Given the description of an element on the screen output the (x, y) to click on. 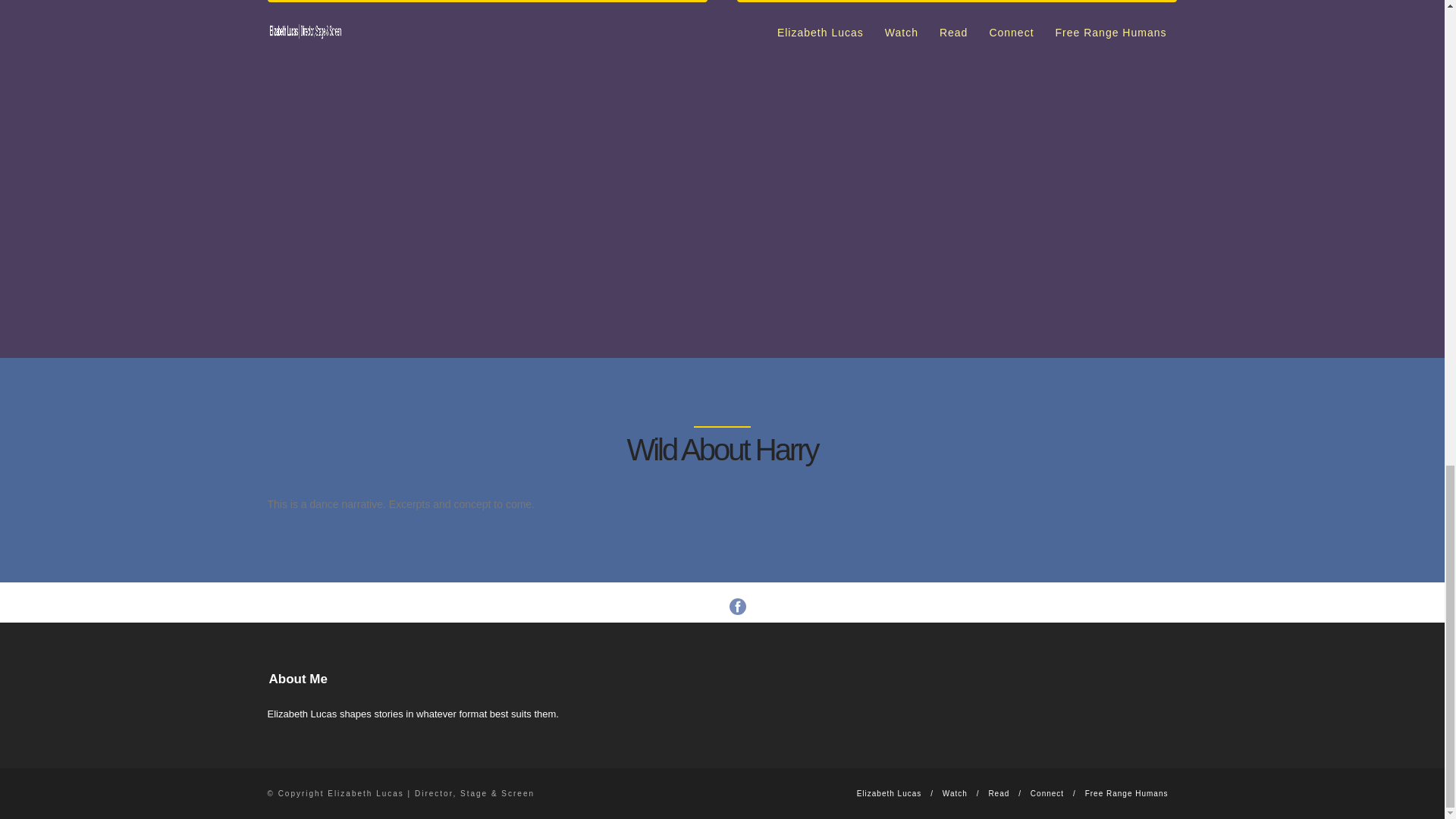
Watch (955, 793)
Read (998, 793)
Free Range Humans (1126, 793)
Connect (1047, 793)
Facebook (737, 606)
Elizabeth Lucas (889, 793)
